Given the description of an element on the screen output the (x, y) to click on. 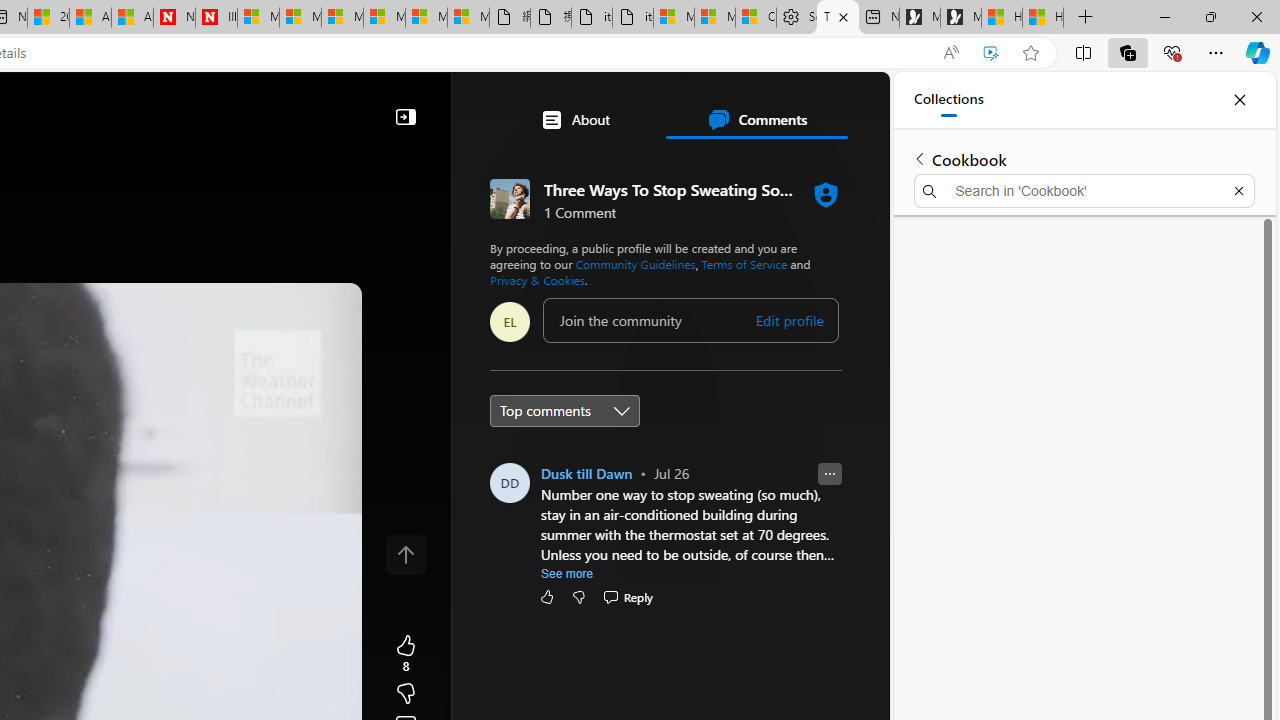
itconcepthk.com/projector_solutions.mp4 (632, 17)
Collapse (406, 115)
Reply Reply Comment (627, 596)
Report comment (829, 473)
Dusk till Dawn (587, 473)
The Wall Street Journal (584, 645)
8 Like (406, 653)
20 Ways to Boost Your Protein Intake at Every Meal (48, 17)
